Given the description of an element on the screen output the (x, y) to click on. 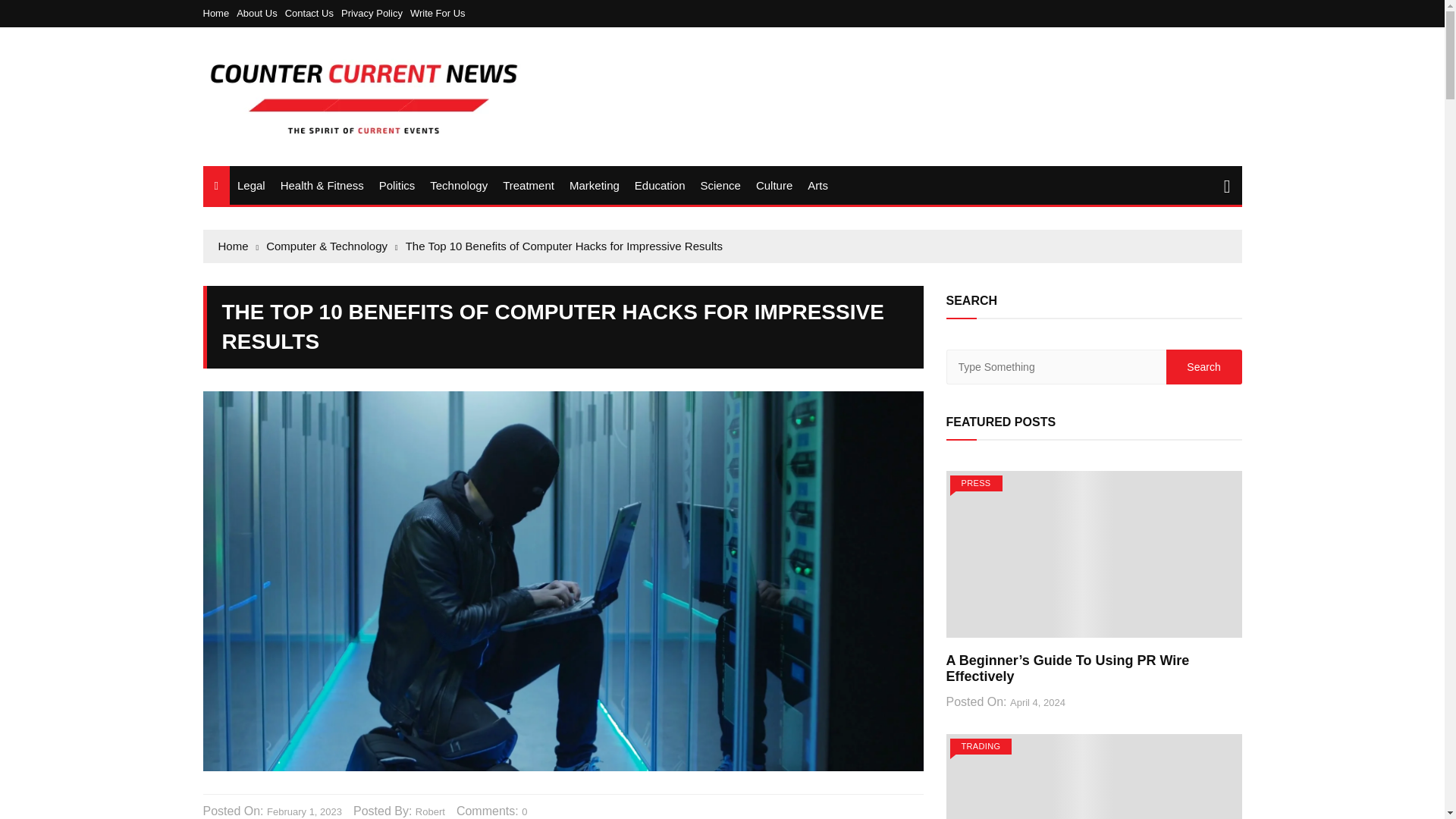
Privacy Policy (375, 13)
Write For Us (437, 13)
Home (220, 13)
Marketing (594, 185)
Arts (817, 185)
About Us (259, 13)
Treatment (528, 185)
Culture (773, 185)
Legal (251, 185)
Search (1203, 366)
Contact Us (312, 13)
Education (660, 185)
Science (720, 185)
Politics (397, 185)
Technology (458, 185)
